Given the description of an element on the screen output the (x, y) to click on. 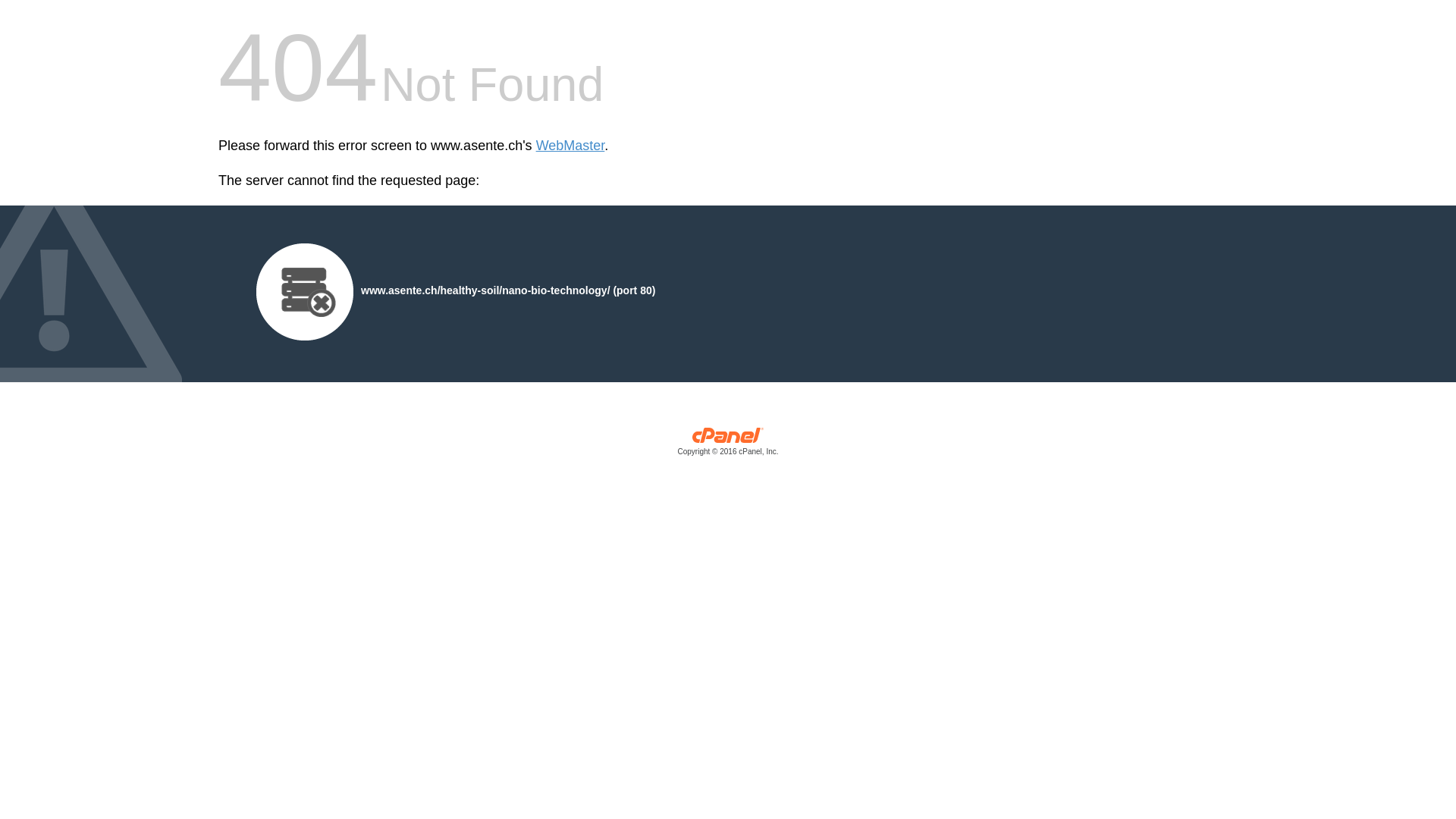
WebMaster Element type: text (570, 145)
